Given the description of an element on the screen output the (x, y) to click on. 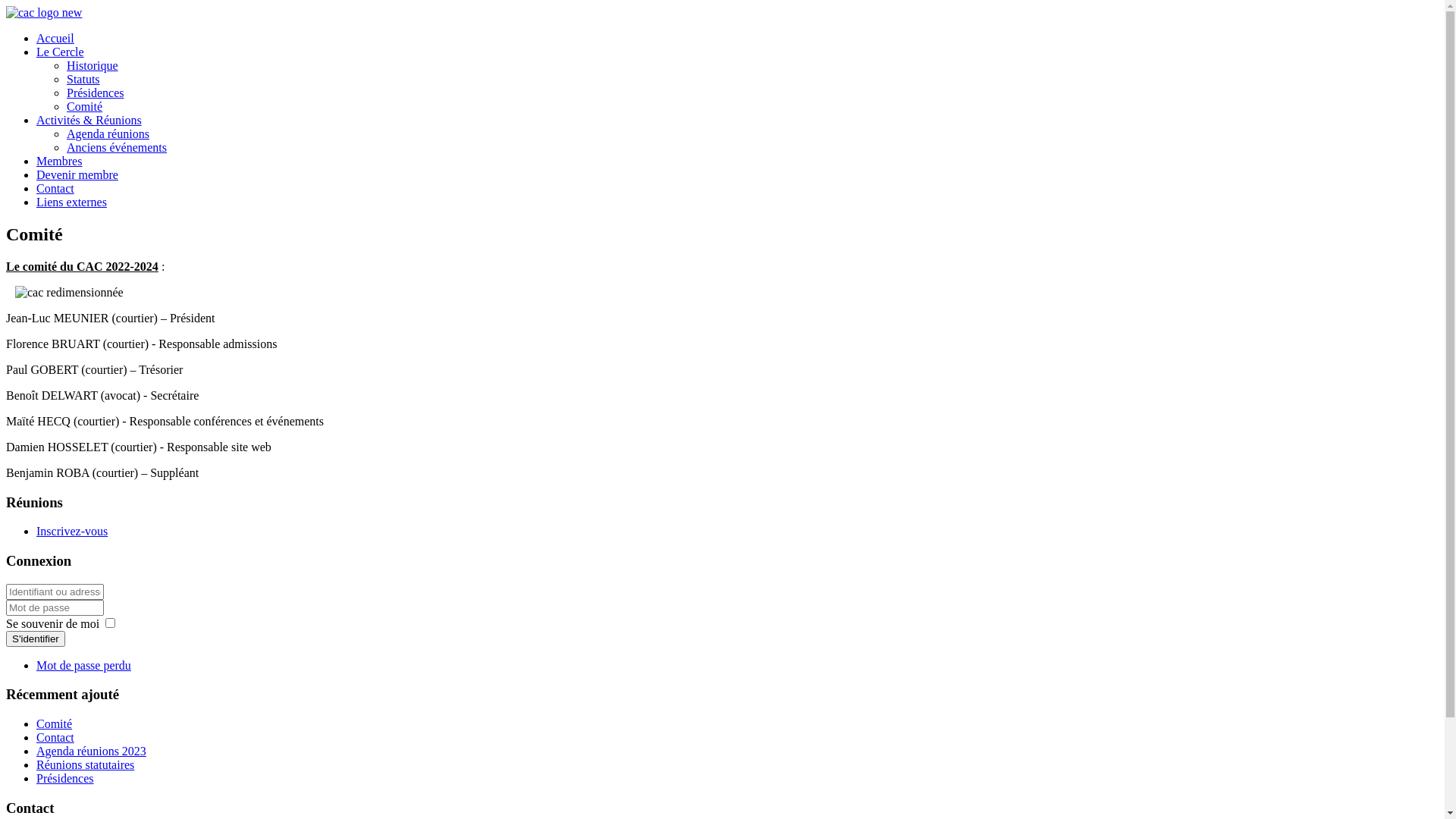
Contact Element type: text (55, 188)
Le Cercle Element type: text (60, 51)
Historique Element type: text (92, 65)
Membres Element type: text (58, 160)
Devenir membre Element type: text (77, 174)
Inscrivez-vous Element type: text (71, 530)
Contact Element type: text (55, 737)
Accueil Element type: text (55, 37)
Statuts Element type: text (83, 78)
S'identifier Element type: text (35, 638)
Liens externes Element type: text (71, 201)
Mot de passe perdu Element type: text (83, 664)
